Given the description of an element on the screen output the (x, y) to click on. 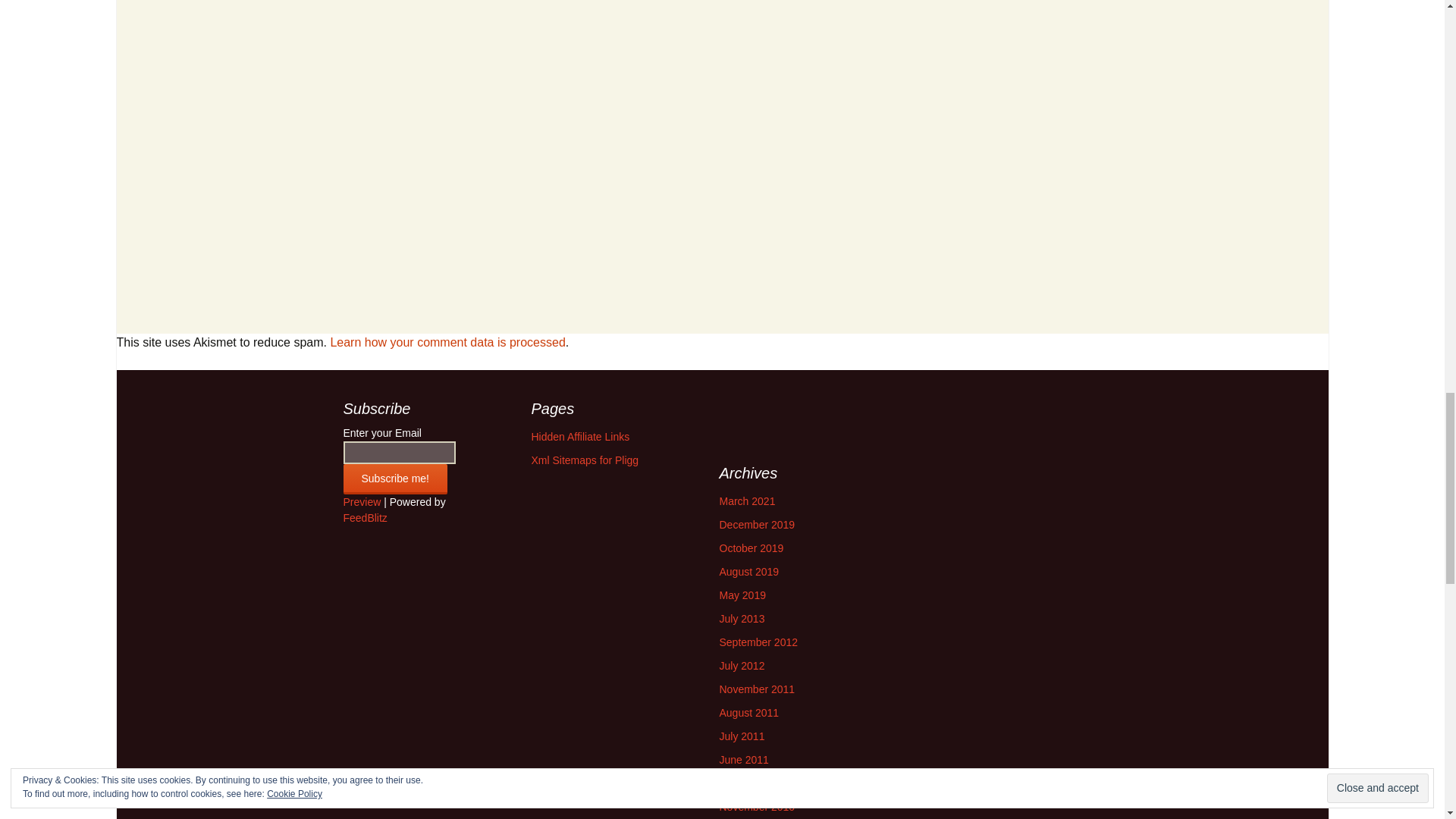
Digg (745, 408)
Preview (361, 501)
Delicious (724, 408)
Learn how your comment data is processed (447, 341)
FriendFeed (767, 408)
Subscribe me! (394, 479)
Subscribe me! (394, 479)
